Given the description of an element on the screen output the (x, y) to click on. 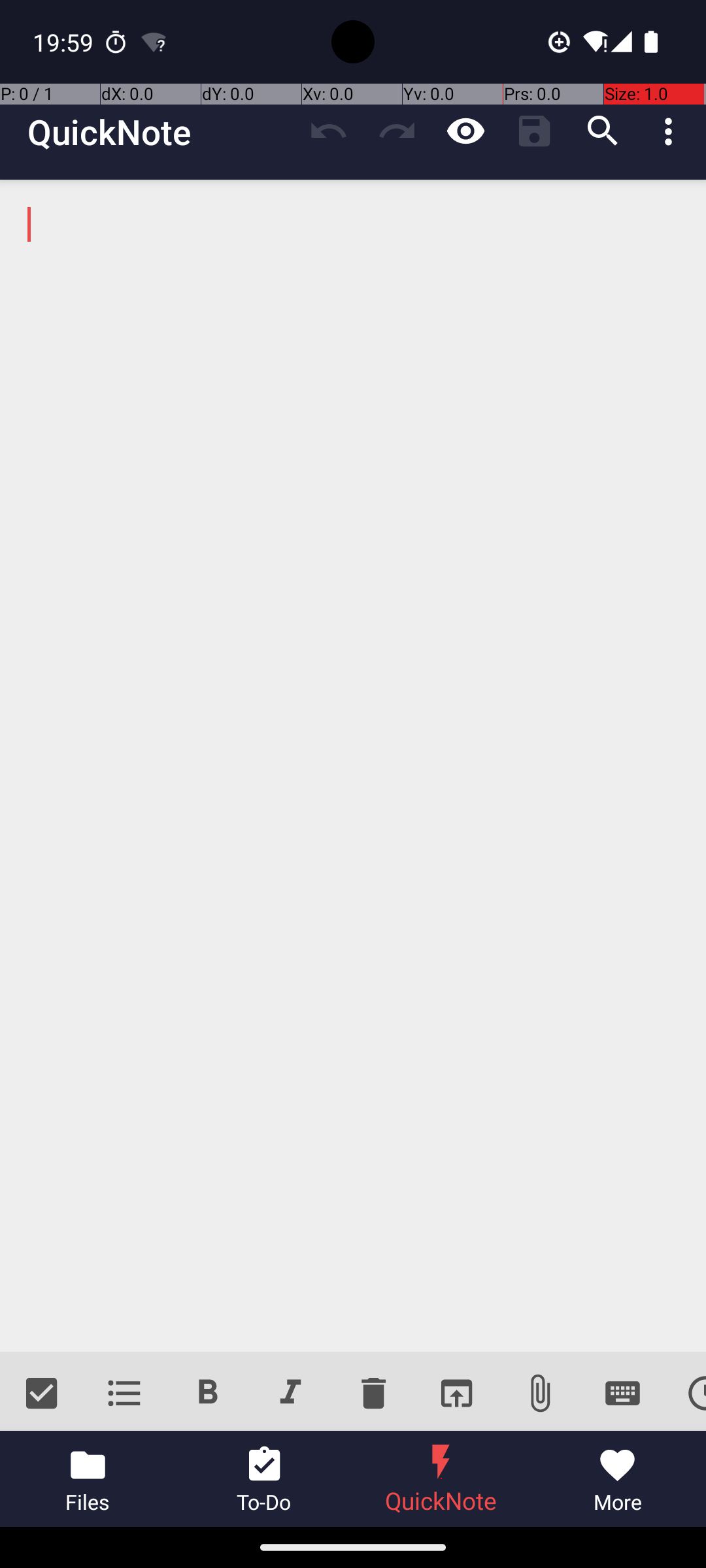
19:59 Element type: android.widget.TextView (64, 41)
